Given the description of an element on the screen output the (x, y) to click on. 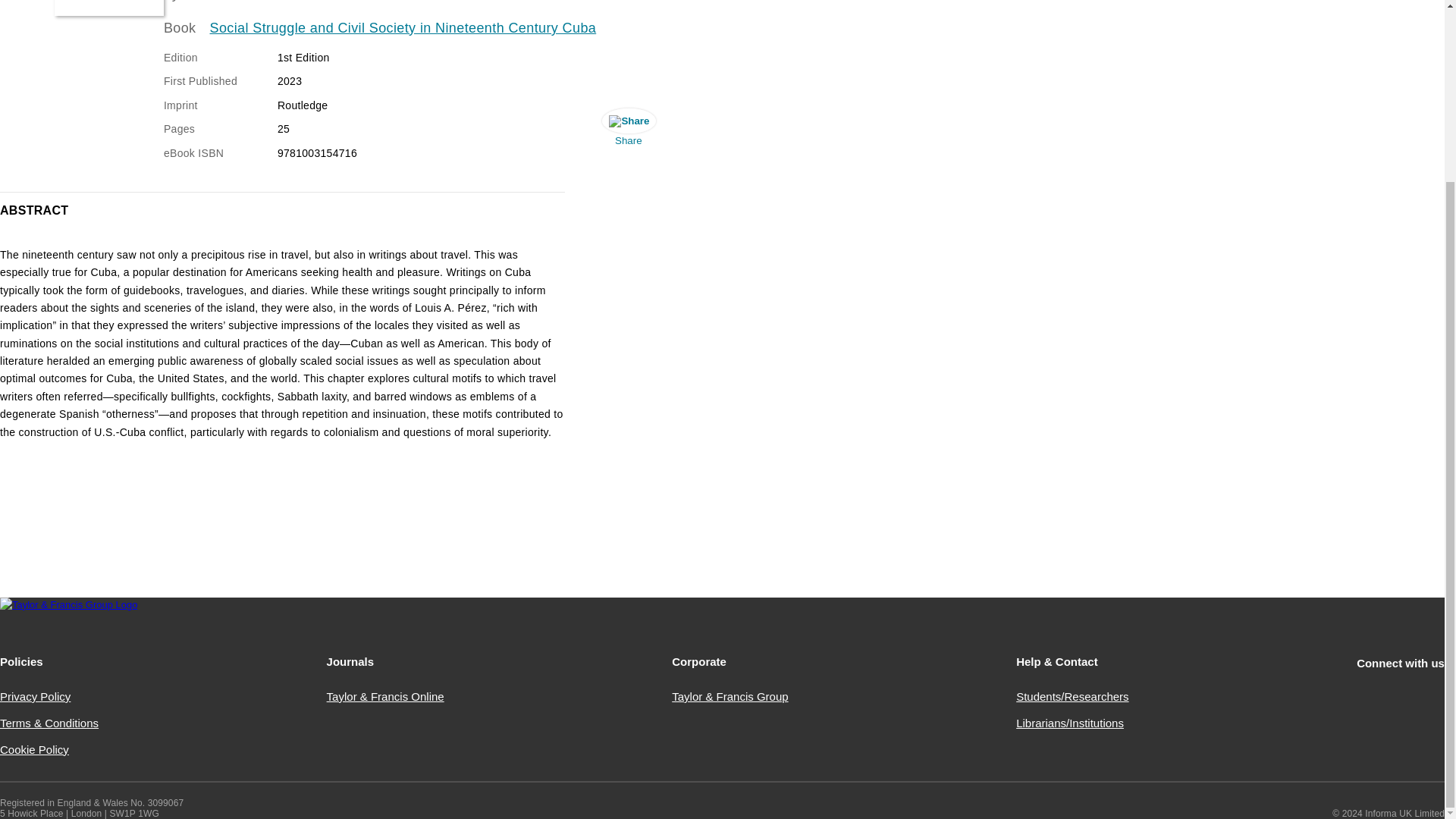
Privacy Policy (34, 696)
Share (627, 130)
Cookie Policy (34, 749)
Bullfights, Cockfights, and Other Evils (109, 7)
Richard E. Morris (239, 0)
Social Struggle and Civil Society in Nineteenth Century Cuba (402, 28)
